Given the description of an element on the screen output the (x, y) to click on. 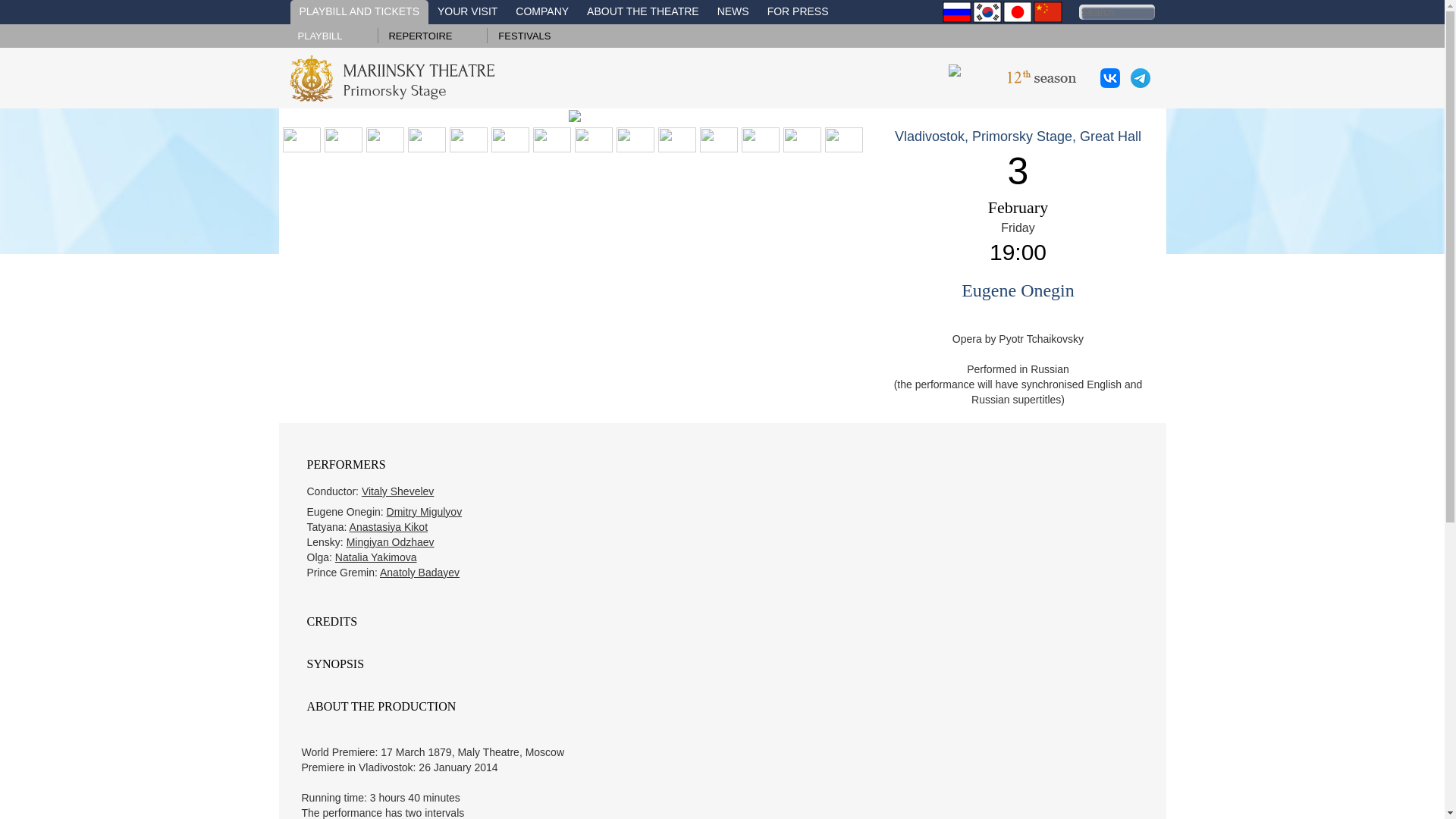
Company (542, 12)
PLAYBILL (319, 35)
Anastasiya Kikot (388, 526)
Alina Mikhailik as Tatiana (757, 138)
FESTIVALS (523, 35)
Dmitry Migulyov (425, 511)
Scene from the performance (299, 138)
Anatoly Badayev (420, 572)
Anastasiya Kikot as Tatiana, Svetlana Rozhok as Filippevna  (507, 138)
ABOUT THE THEATRE (642, 12)
News (732, 12)
NEWS (732, 12)
